Given the description of an element on the screen output the (x, y) to click on. 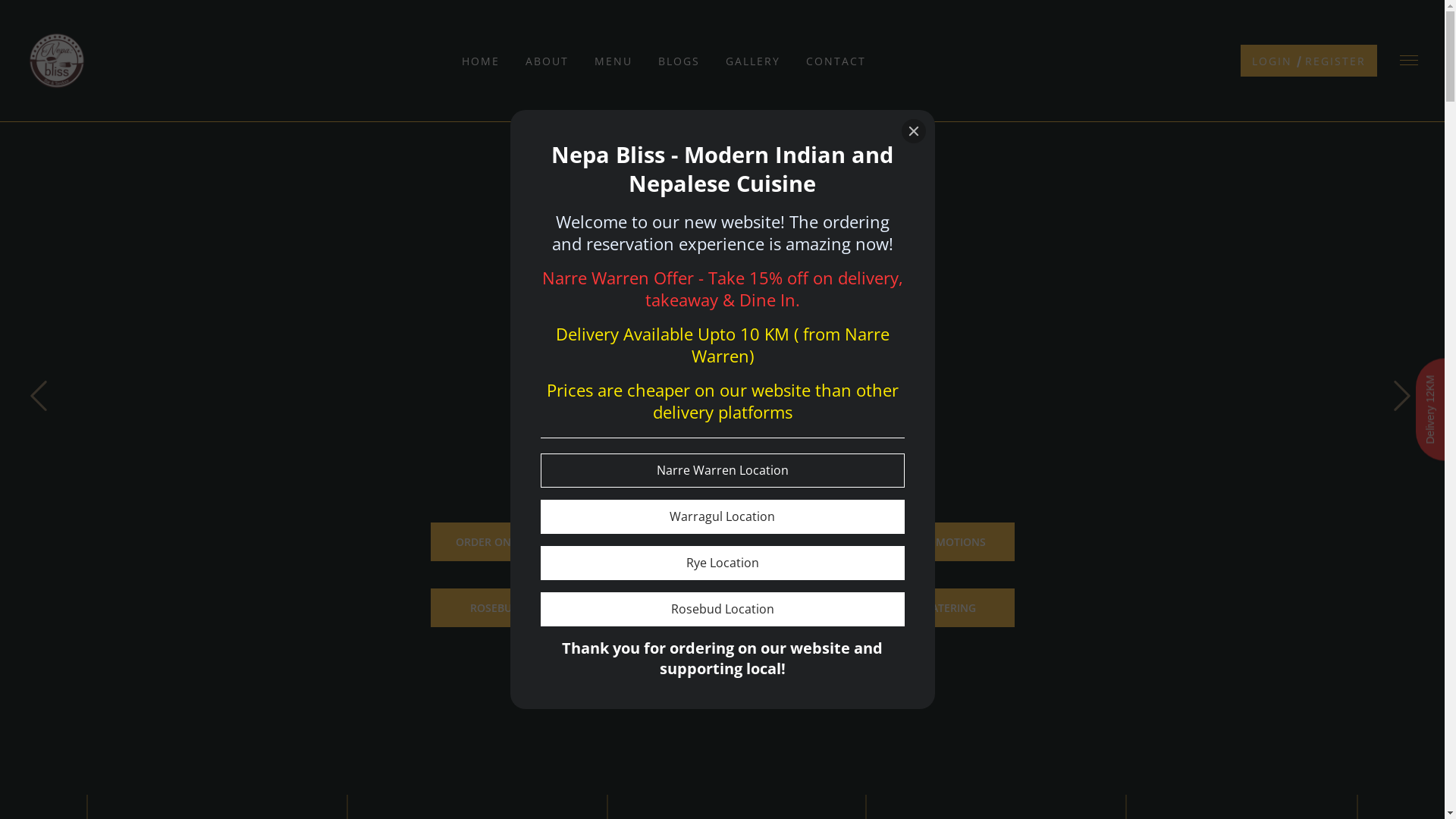
Rye Location Element type: text (721, 563)
ORDER ONLINE Element type: text (494, 541)
ROSEBUD Element type: text (494, 607)
Narre Warren Location Element type: text (721, 470)
MENU Element type: text (613, 60)
PROMOTIONS Element type: text (949, 541)
BOOK A TABLE Element type: text (646, 541)
OPENING HOURS Element type: text (798, 541)
REGISTER Element type: text (1335, 61)
HOME Element type: text (480, 60)
GALLERY Element type: text (752, 60)
RYE Element type: text (646, 607)
Warragul Location Element type: text (721, 516)
ABOUT Element type: text (546, 60)
BLOGS Element type: text (678, 60)
Rosebud Location Element type: text (721, 609)
LOGIN Element type: text (1272, 61)
CATERING Element type: text (949, 607)
WARRAGUL Element type: text (798, 607)
CONTACT Element type: text (836, 60)
